Given the description of an element on the screen output the (x, y) to click on. 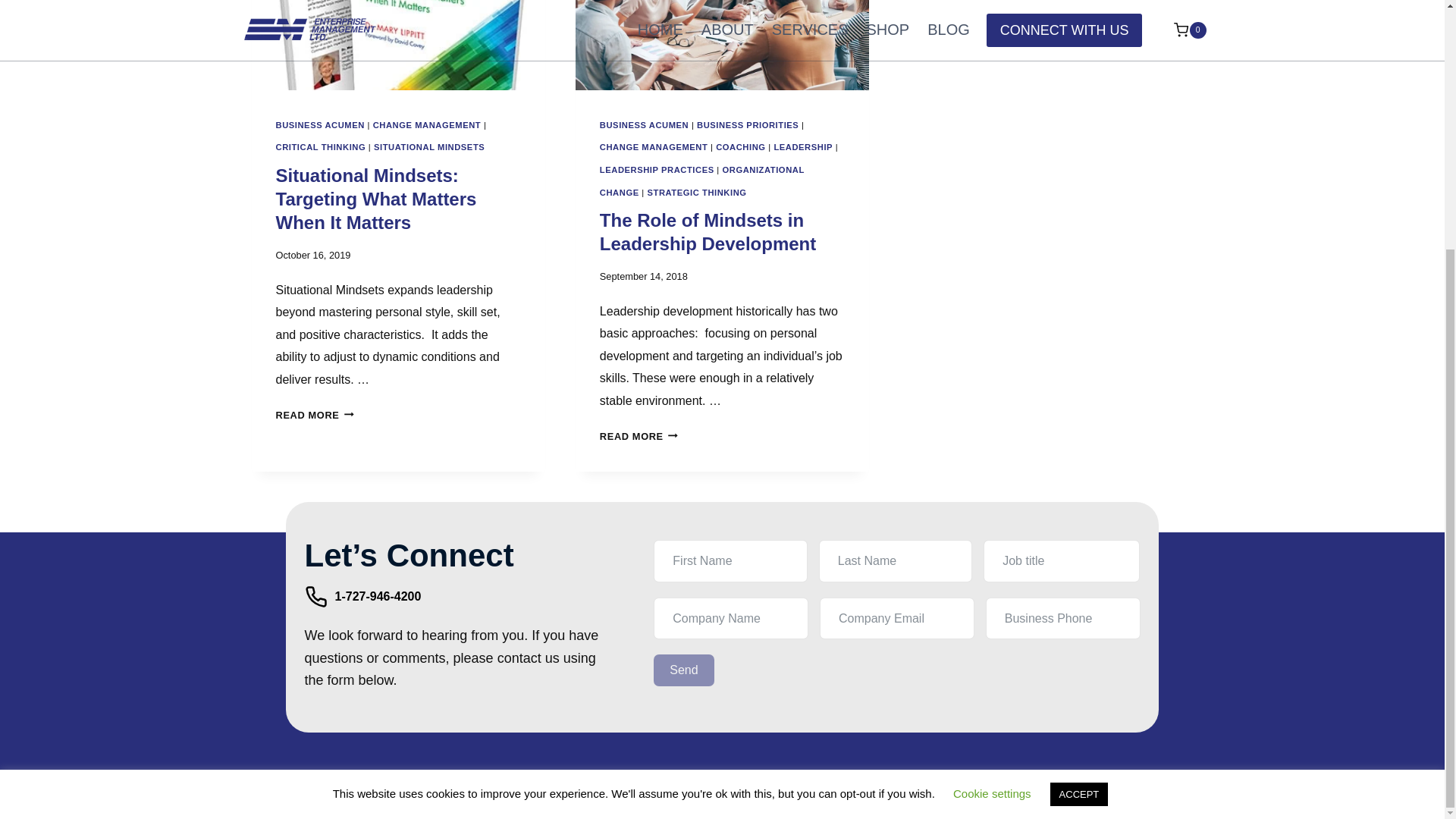
BUSINESS ACUMEN (643, 124)
CHANGE MANAGEMENT (653, 146)
Send (683, 670)
BUSINESS PRIORITIES (747, 124)
Situational Mindsets: Targeting What Matters When It Matters (376, 198)
Privacy Policy (821, 794)
LEADERSHIP PRACTICES (656, 169)
SITUATIONAL MINDSETS (429, 146)
CHANGE MANAGEMENT (426, 124)
ACCEPT (1078, 445)
ORGANIZATIONAL CHANGE (702, 181)
READ MORE (638, 436)
BUSINESS ACUMEN (320, 124)
1-727-946-4200 (363, 596)
CRITICAL THINKING (321, 146)
